Given the description of an element on the screen output the (x, y) to click on. 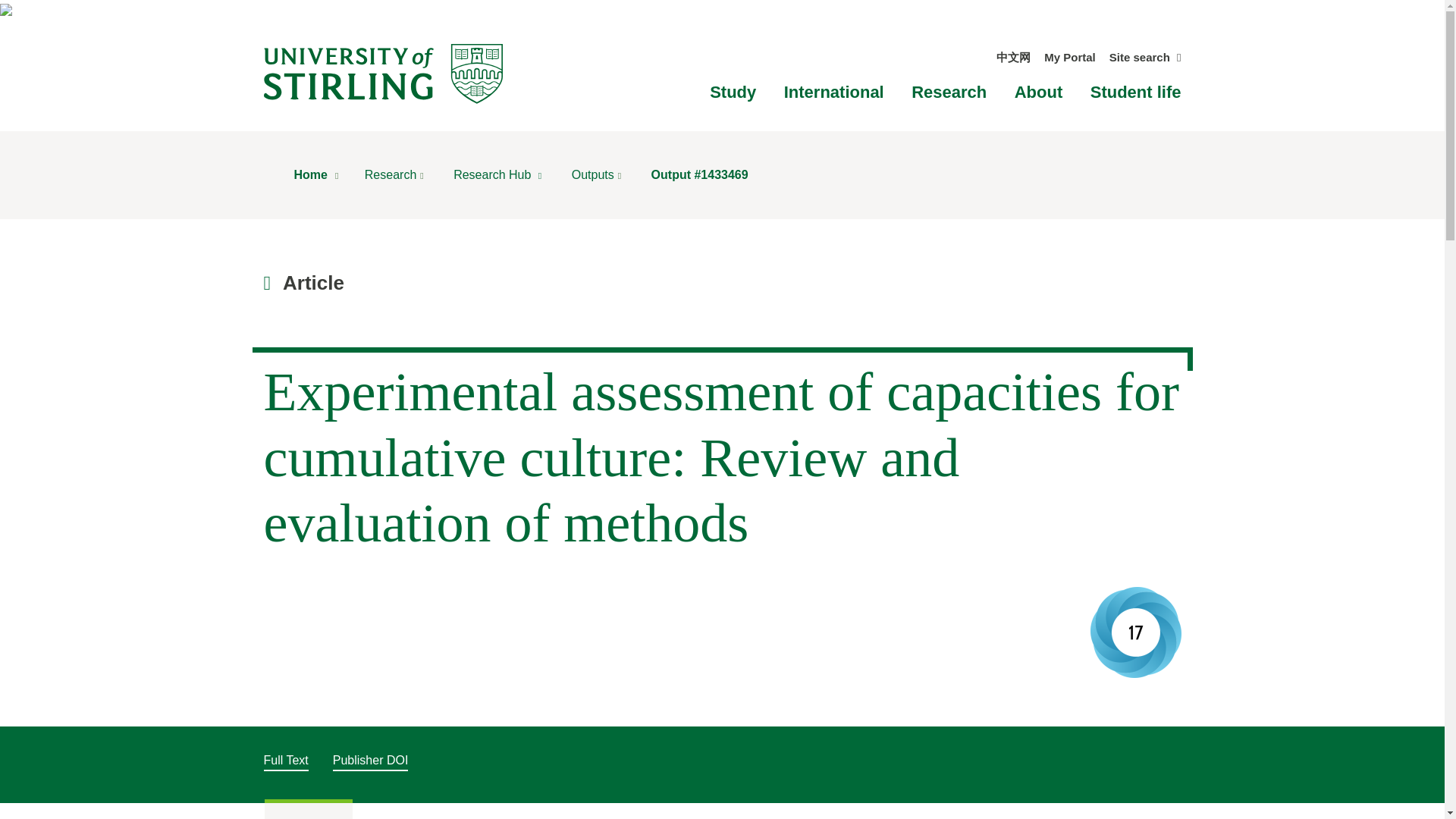
University of Stirling (382, 72)
International (833, 91)
Research (949, 91)
About (1038, 91)
Student life (1135, 91)
Site search (1144, 56)
Study (732, 91)
My Portal (1069, 56)
